Given the description of an element on the screen output the (x, y) to click on. 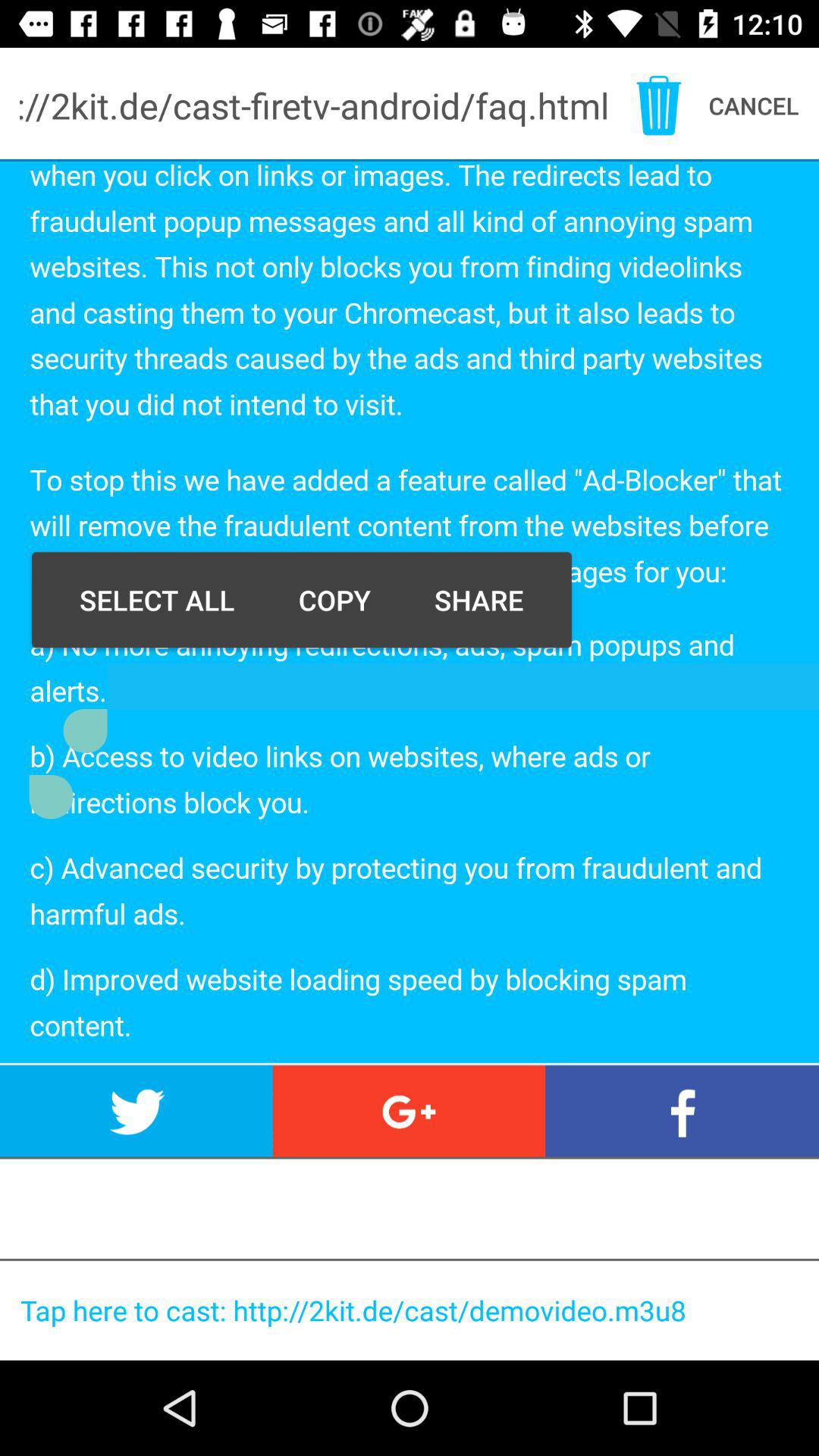
select the icon which is at the top right corner (659, 105)
click on the text cancel which is at the right top corner (764, 105)
select the bottom article url (414, 1309)
